Given the description of an element on the screen output the (x, y) to click on. 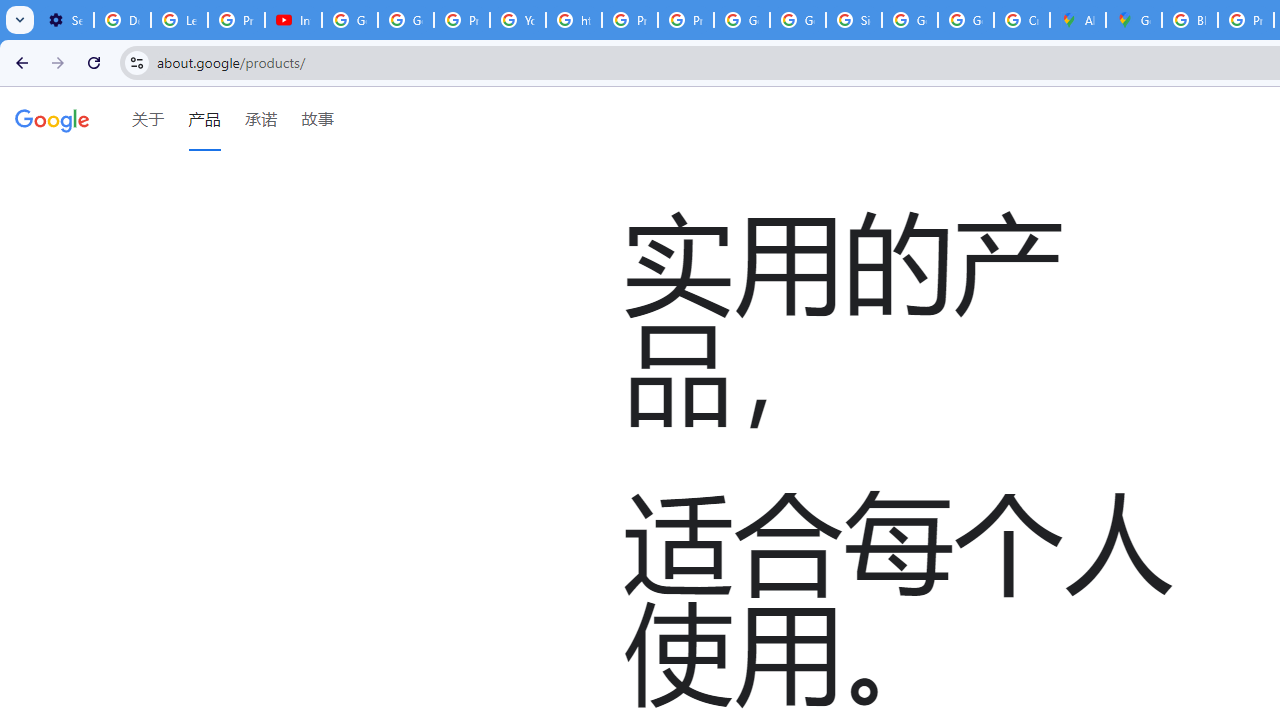
Google Account Help (349, 20)
YouTube (518, 20)
Create your Google Account (1021, 20)
Learn how to find your photos - Google Photos Help (179, 20)
Blogger Policies and Guidelines - Transparency Center (1190, 20)
